Given the description of an element on the screen output the (x, y) to click on. 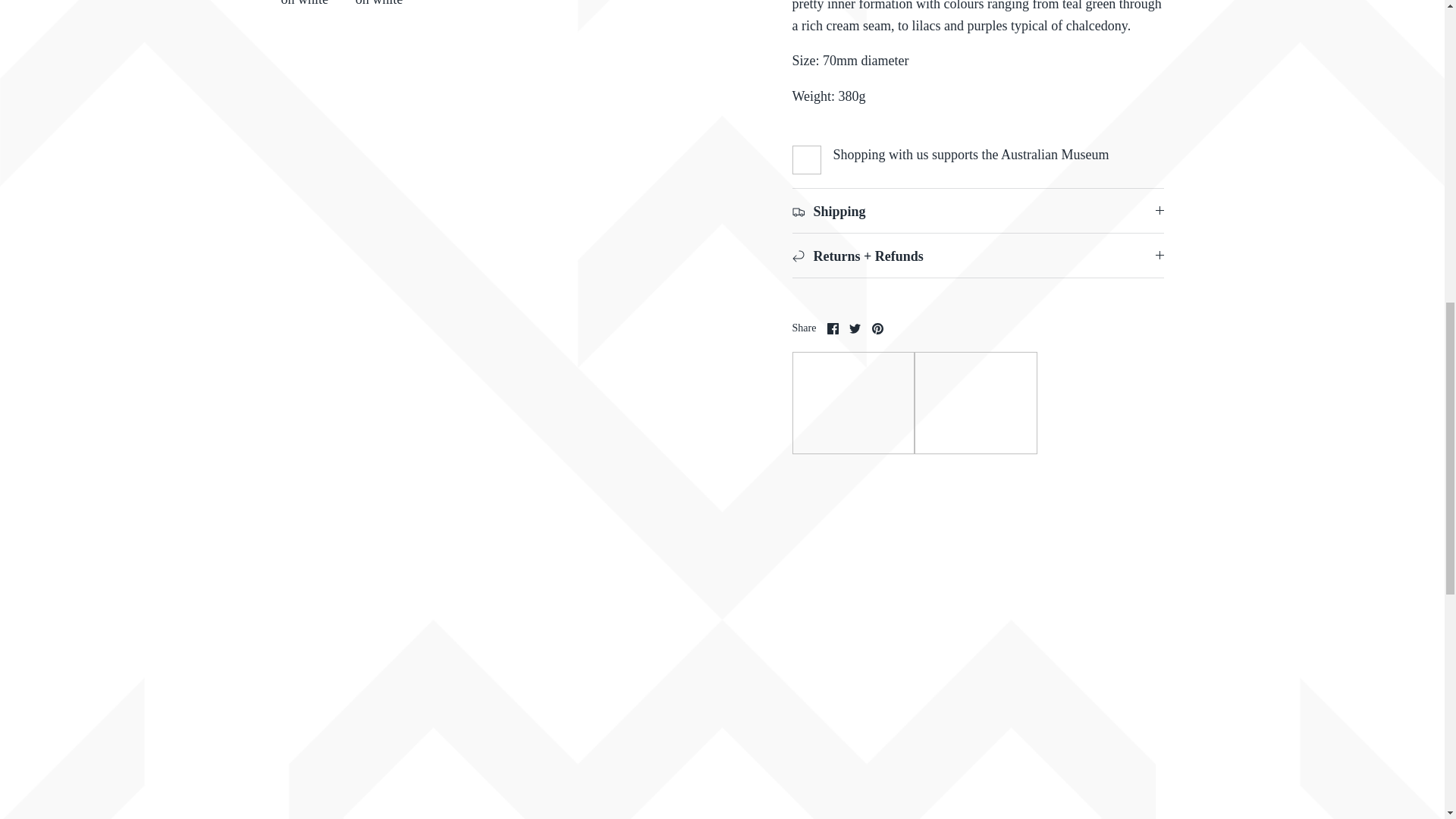
Facebook (832, 328)
Pinterest (877, 328)
Twitter (854, 328)
